Given the description of an element on the screen output the (x, y) to click on. 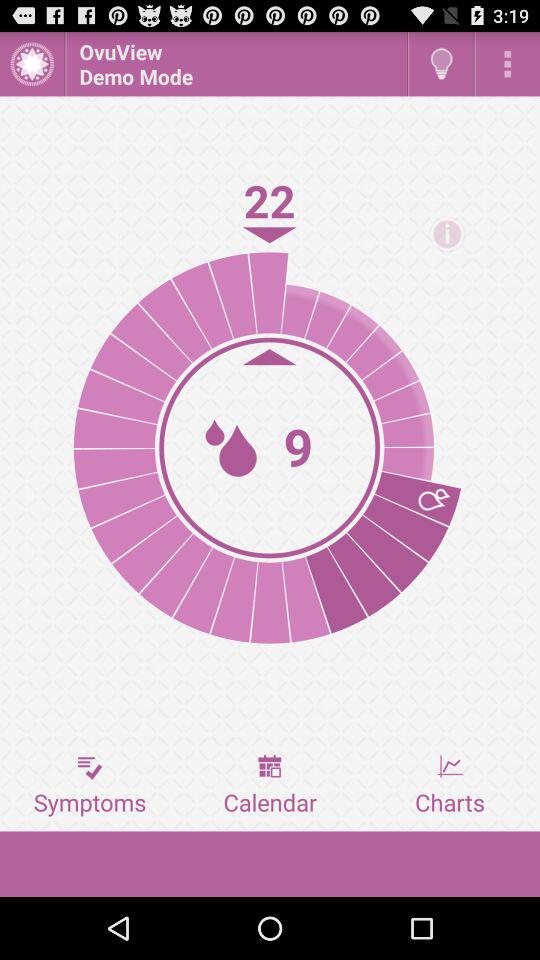
scroll until the ovuview
demo mode (236, 63)
